Given the description of an element on the screen output the (x, y) to click on. 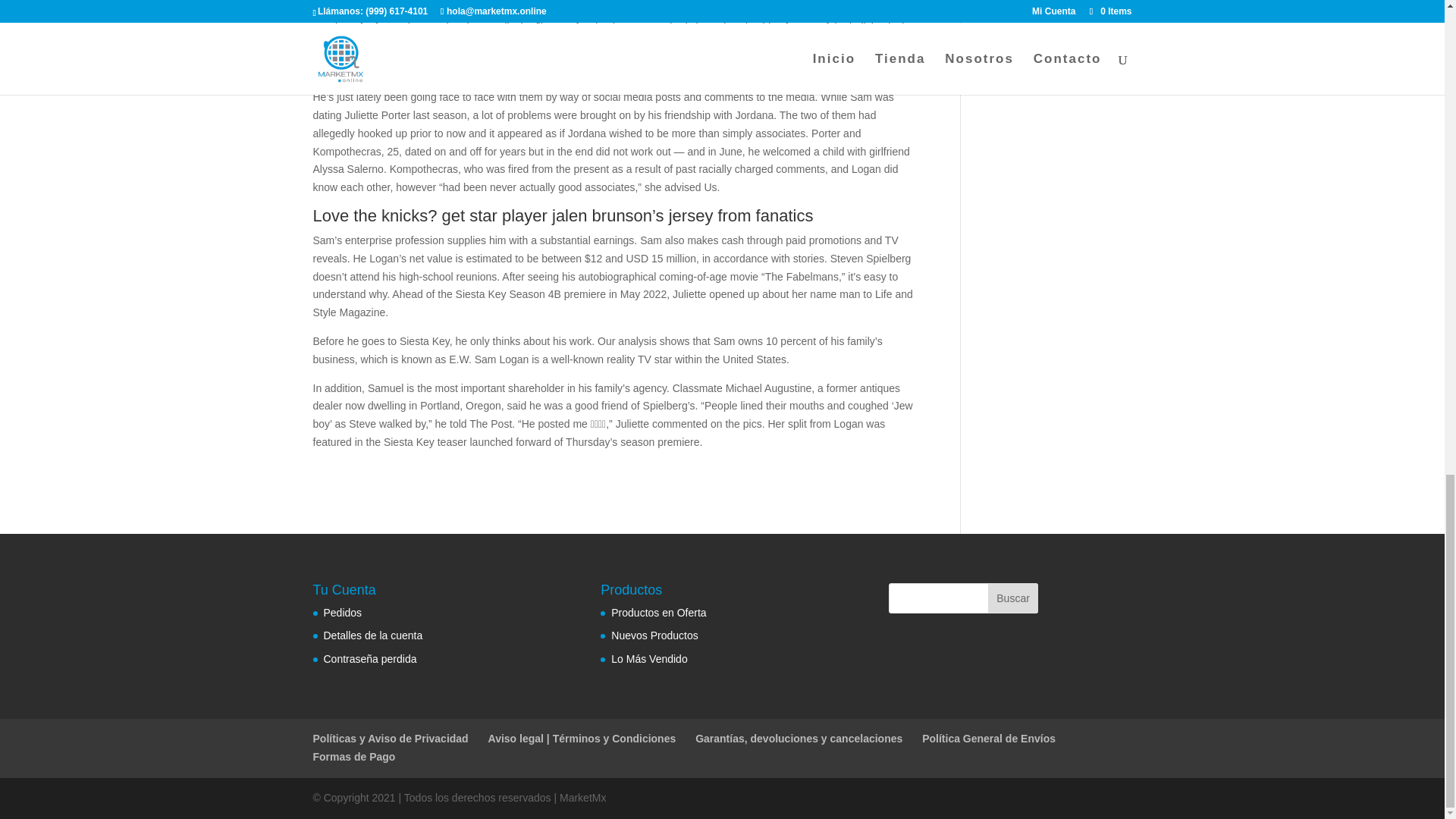
Pedidos (342, 612)
Buscar (1012, 598)
Buscar (1012, 598)
Nuevos Productos (654, 635)
Detalles de la cuenta (372, 635)
Formas de Pago (353, 756)
Productos en Oferta (658, 612)
